Given the description of an element on the screen output the (x, y) to click on. 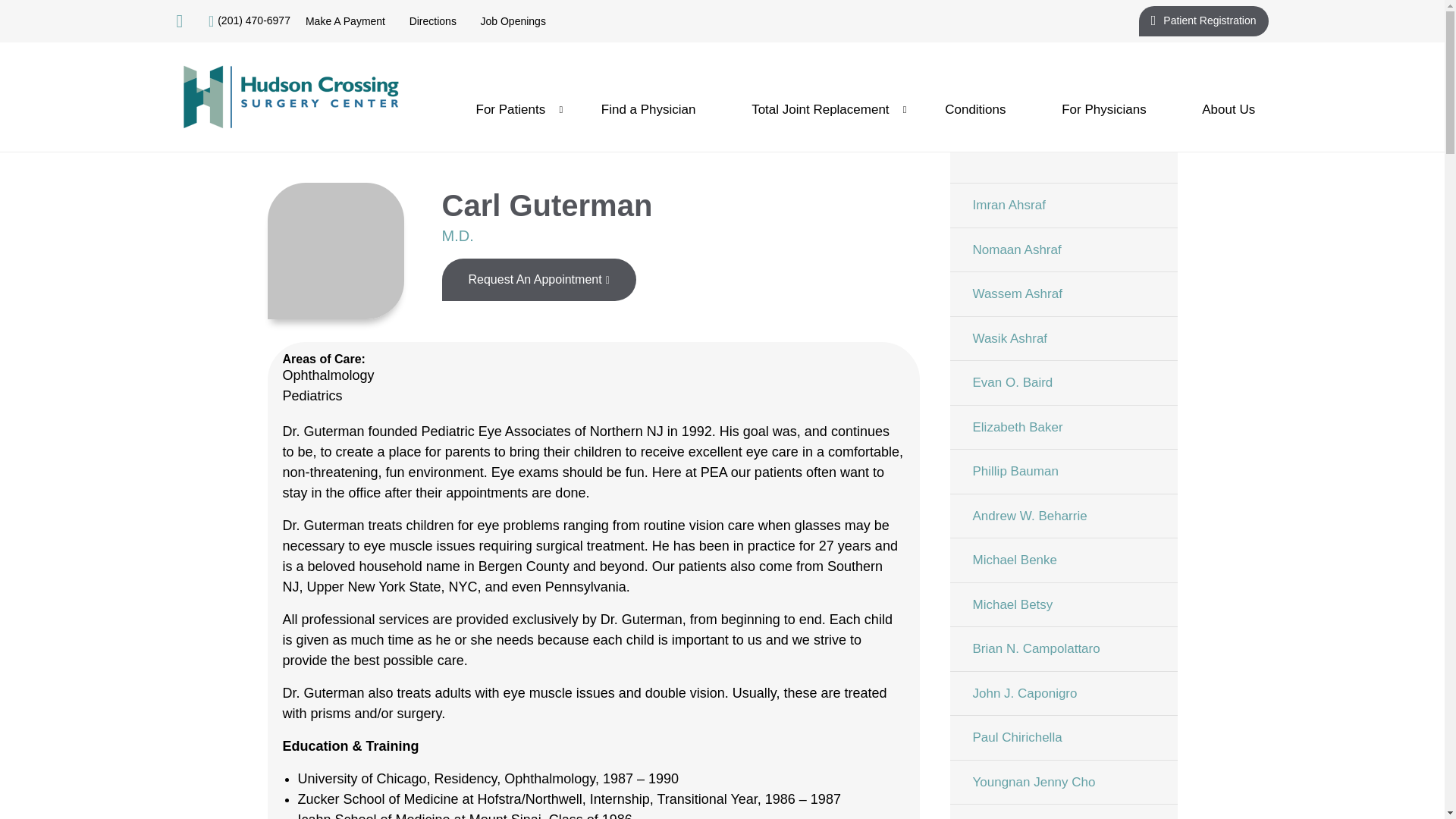
Wassem Ashraf (1062, 293)
For Physicians (1103, 109)
Andrew W. Beharrie (1062, 515)
Conditions (975, 109)
Patient Registration (1203, 20)
Elizabeth Baker (1062, 426)
Nomaan Ashraf (1062, 249)
About Us (1228, 109)
Wasik Ashraf (1062, 337)
Make A Payment (345, 21)
Phillip Bauman (1062, 470)
Imran Ahsraf (1062, 204)
Directions (433, 21)
Job Openings (513, 21)
Find a Physician (648, 109)
